Given the description of an element on the screen output the (x, y) to click on. 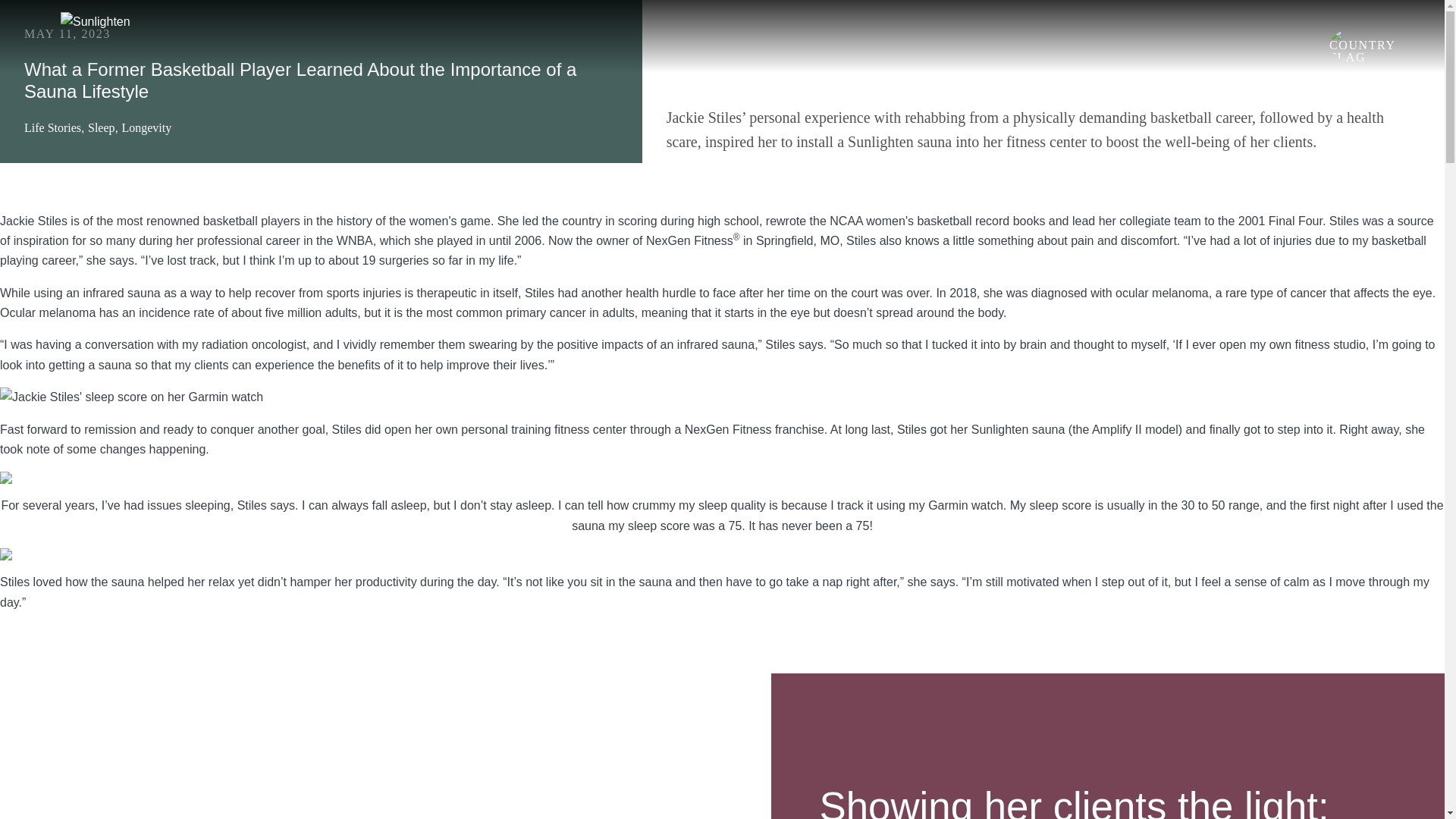
Jackie Stiles (33, 220)
ocular melanoma (1161, 292)
Open Menu (1377, 36)
Amplify II (1116, 429)
